Given the description of an element on the screen output the (x, y) to click on. 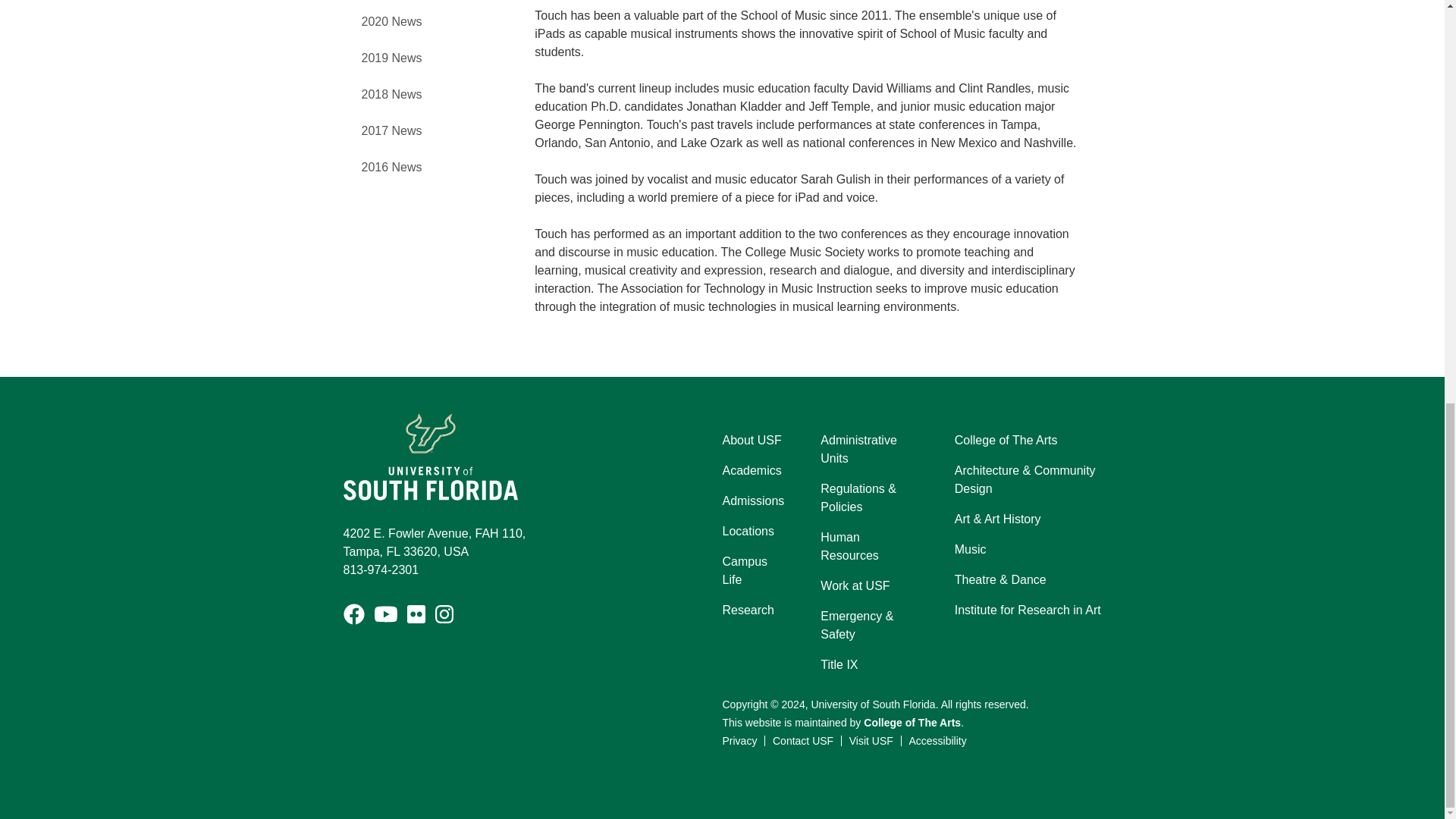
Academics (751, 470)
Work at USF (855, 586)
Title IX (839, 665)
2019 News (391, 57)
2018 News (391, 93)
2017 News (391, 130)
Research (747, 610)
Human Resources (869, 546)
2020 News (391, 21)
2016 News (391, 166)
Campus Life (753, 570)
Admissions (753, 501)
Music (971, 549)
Locations (748, 531)
Administrative Units (869, 449)
